Given the description of an element on the screen output the (x, y) to click on. 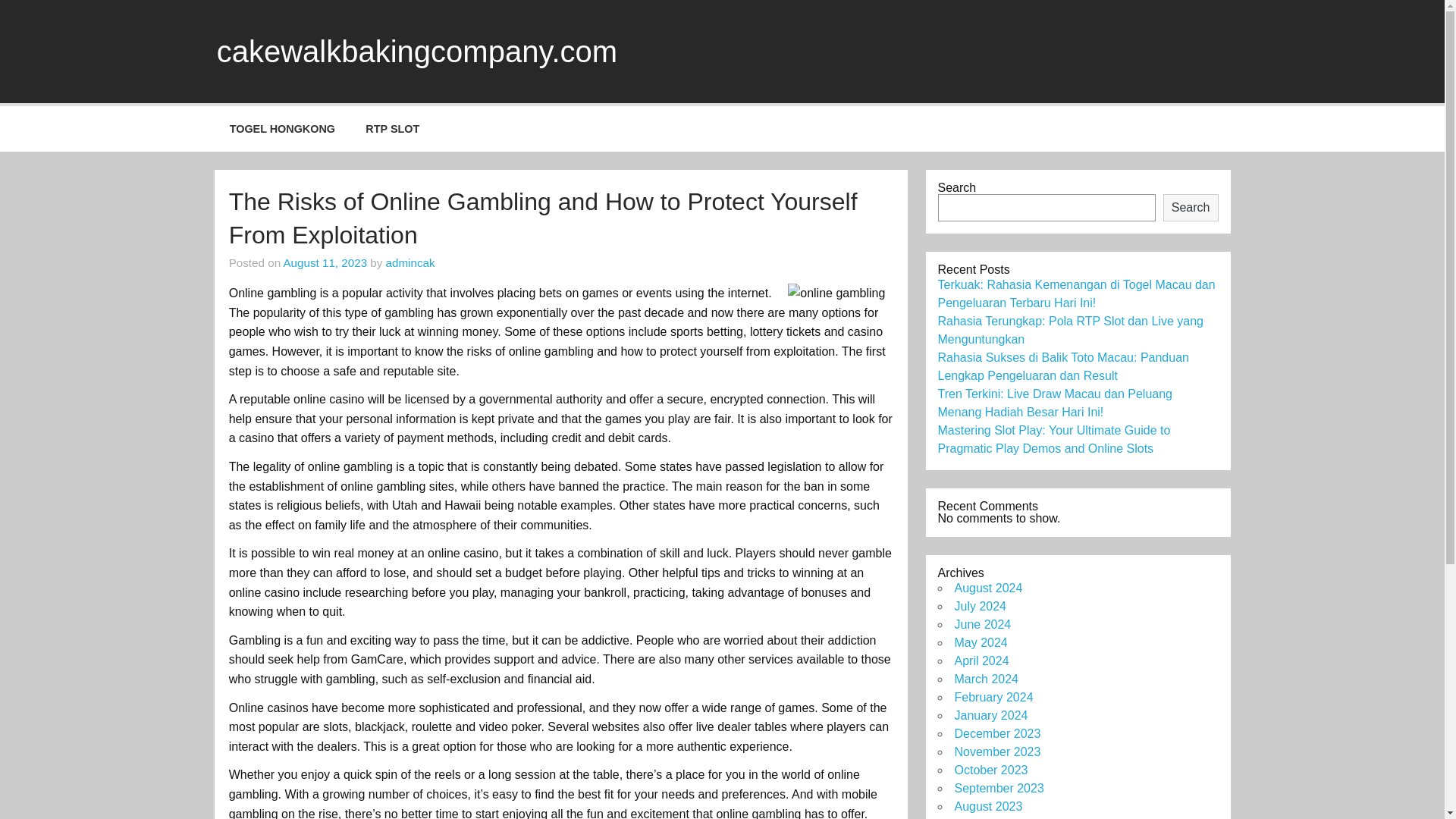
January 2024 (990, 715)
TOGEL HONGKONG (282, 128)
August 2024 (987, 587)
December 2023 (997, 733)
View all posts by admincak (410, 262)
cakewalkbakingcompany.com (416, 51)
March 2024 (985, 678)
April 2024 (981, 660)
September 2023 (998, 788)
